Given the description of an element on the screen output the (x, y) to click on. 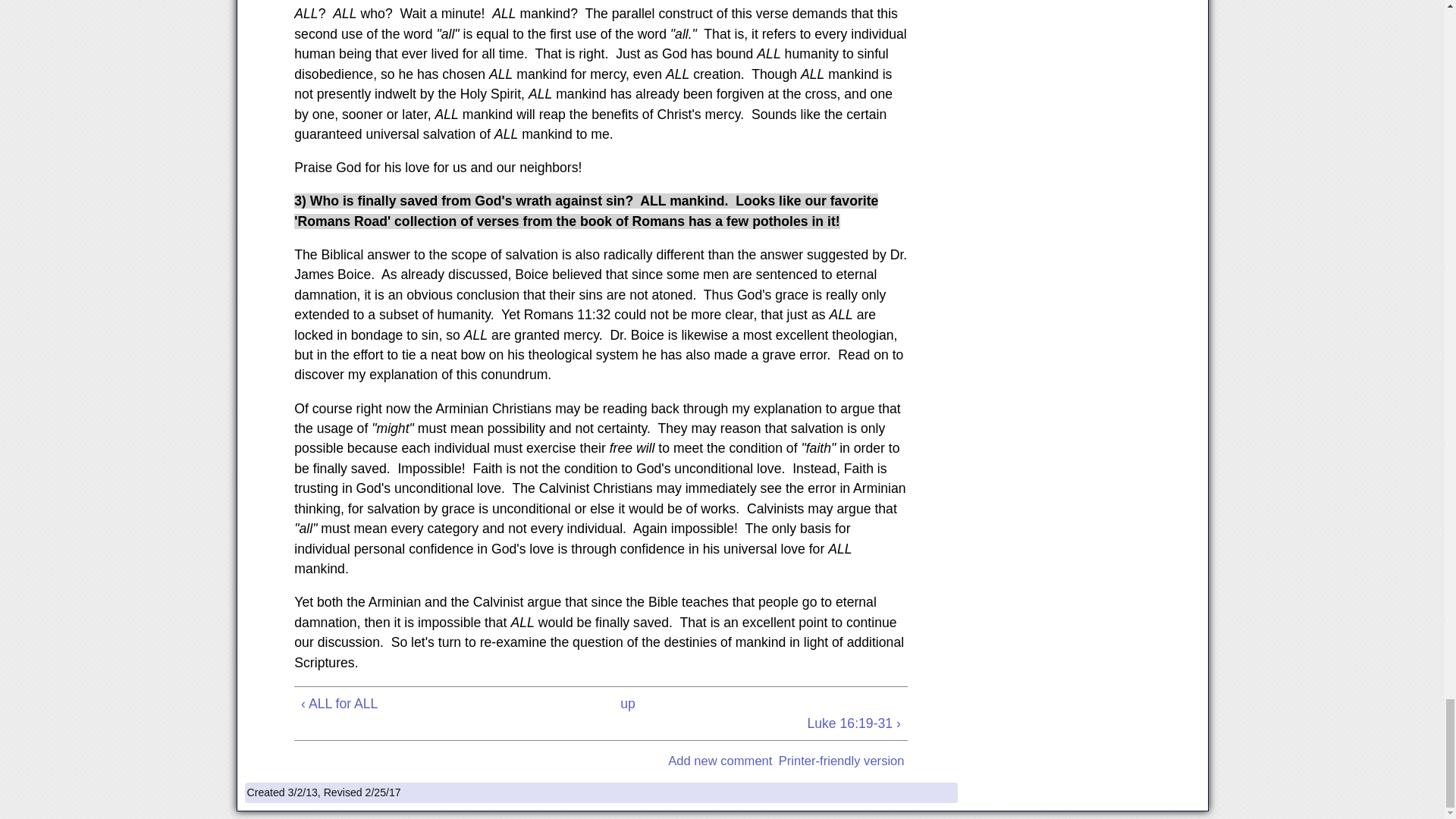
up (627, 703)
Go to previous page (420, 703)
Go to next page (781, 723)
Share your thoughts and opinions related to this posting. (719, 760)
Add new comment (719, 760)
Printer-friendly version (841, 760)
Go to parent page (627, 703)
